Given the description of an element on the screen output the (x, y) to click on. 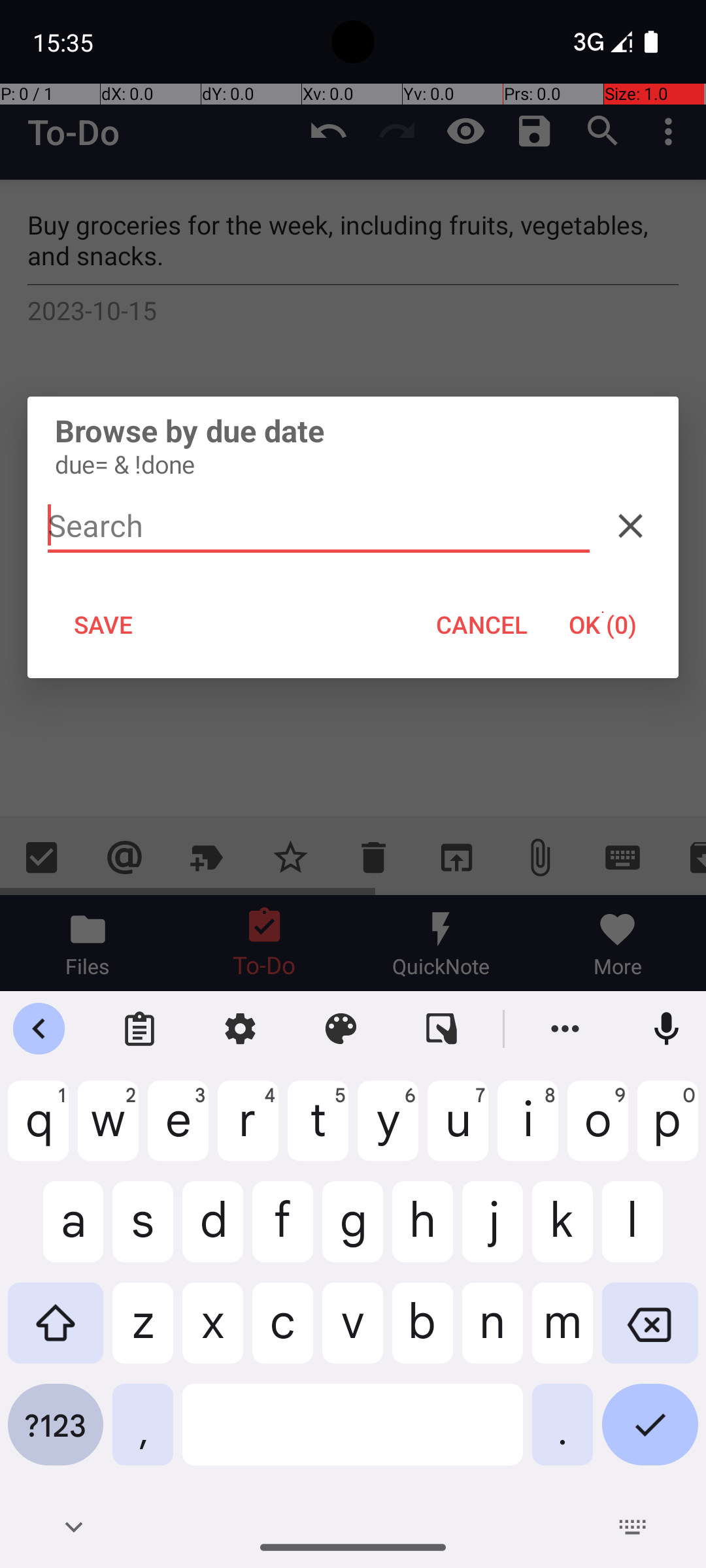
Browse by due date
due= & !done Element type: android.widget.TextView (352, 444)
OK (0) Element type: android.widget.Button (602, 624)
